Given the description of an element on the screen output the (x, y) to click on. 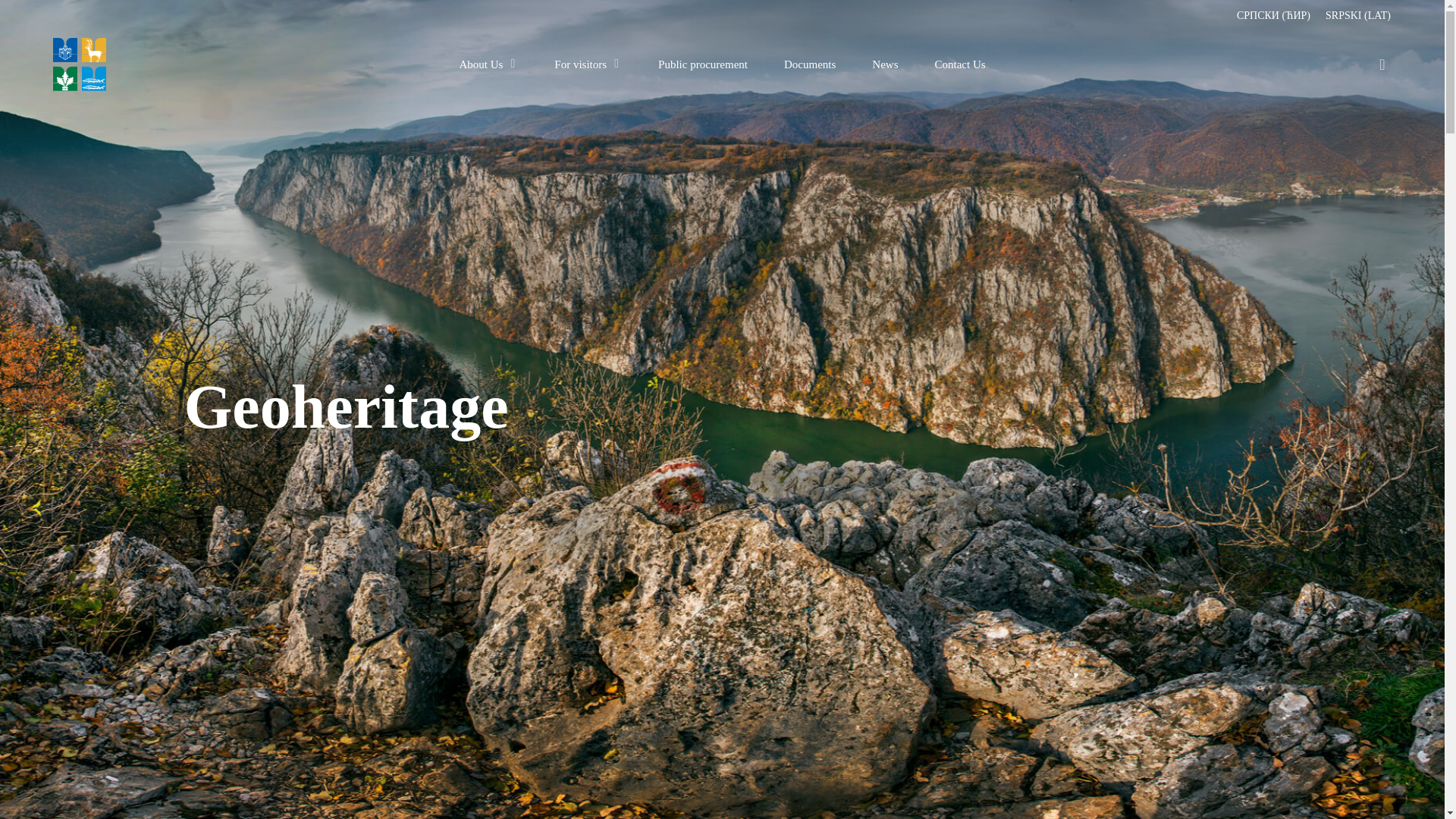
search (1382, 64)
About Us (488, 64)
Contact Us (959, 64)
Documents (809, 64)
Public procurement (703, 64)
For visitors (587, 64)
News (885, 64)
